Given the description of an element on the screen output the (x, y) to click on. 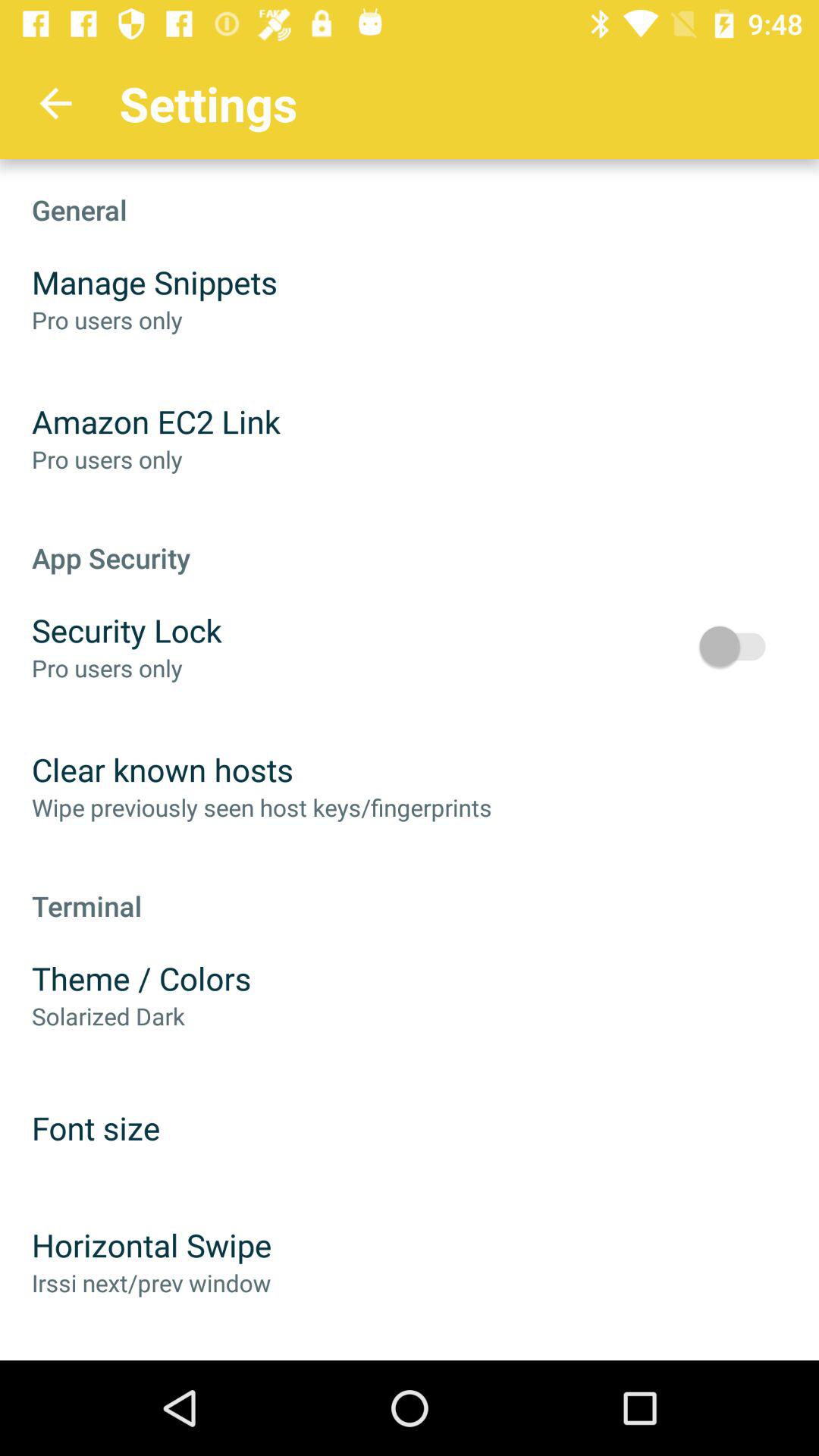
open icon above general icon (55, 103)
